Given the description of an element on the screen output the (x, y) to click on. 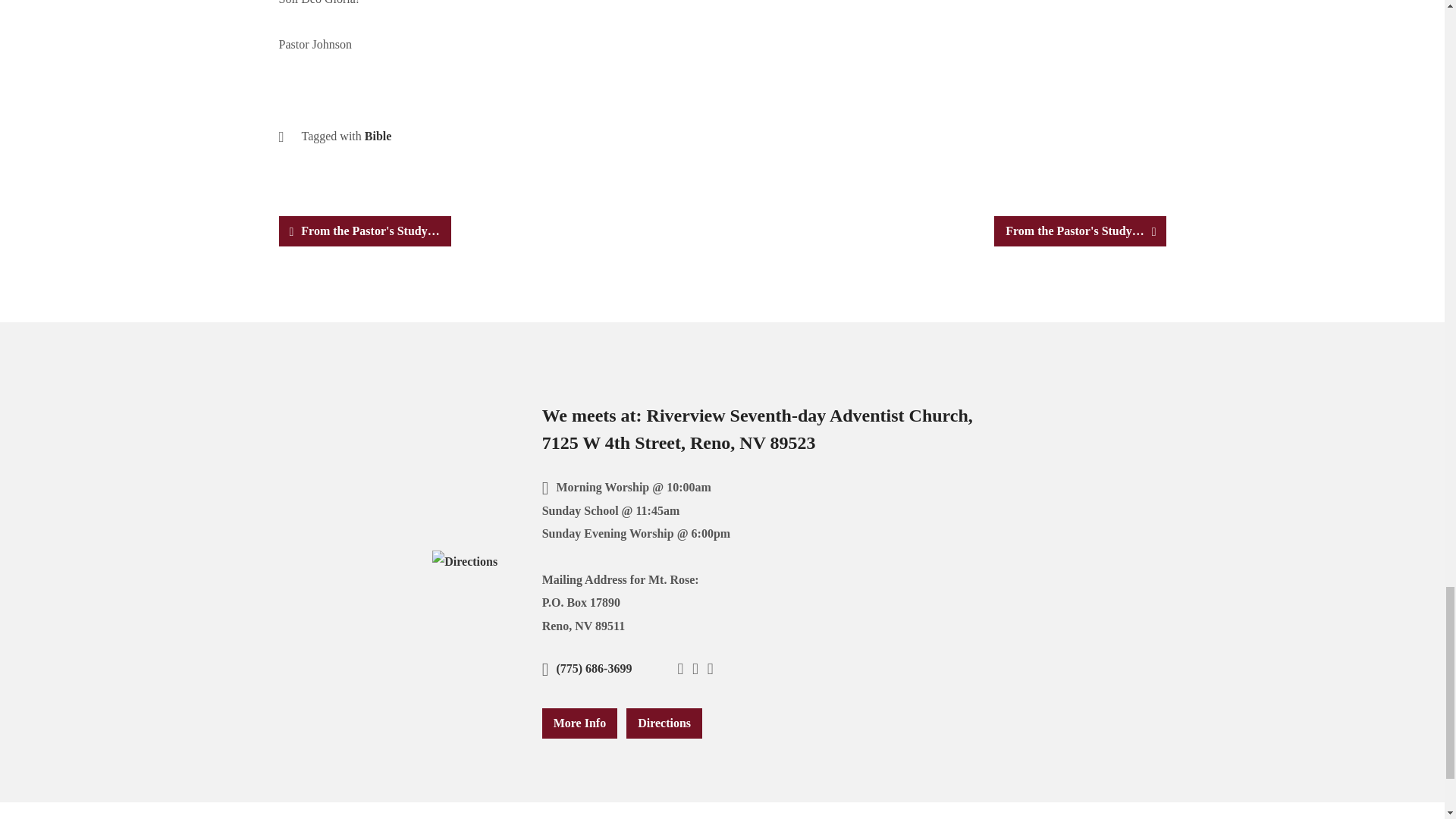
Directions (464, 561)
Bible (378, 135)
